Given the description of an element on the screen output the (x, y) to click on. 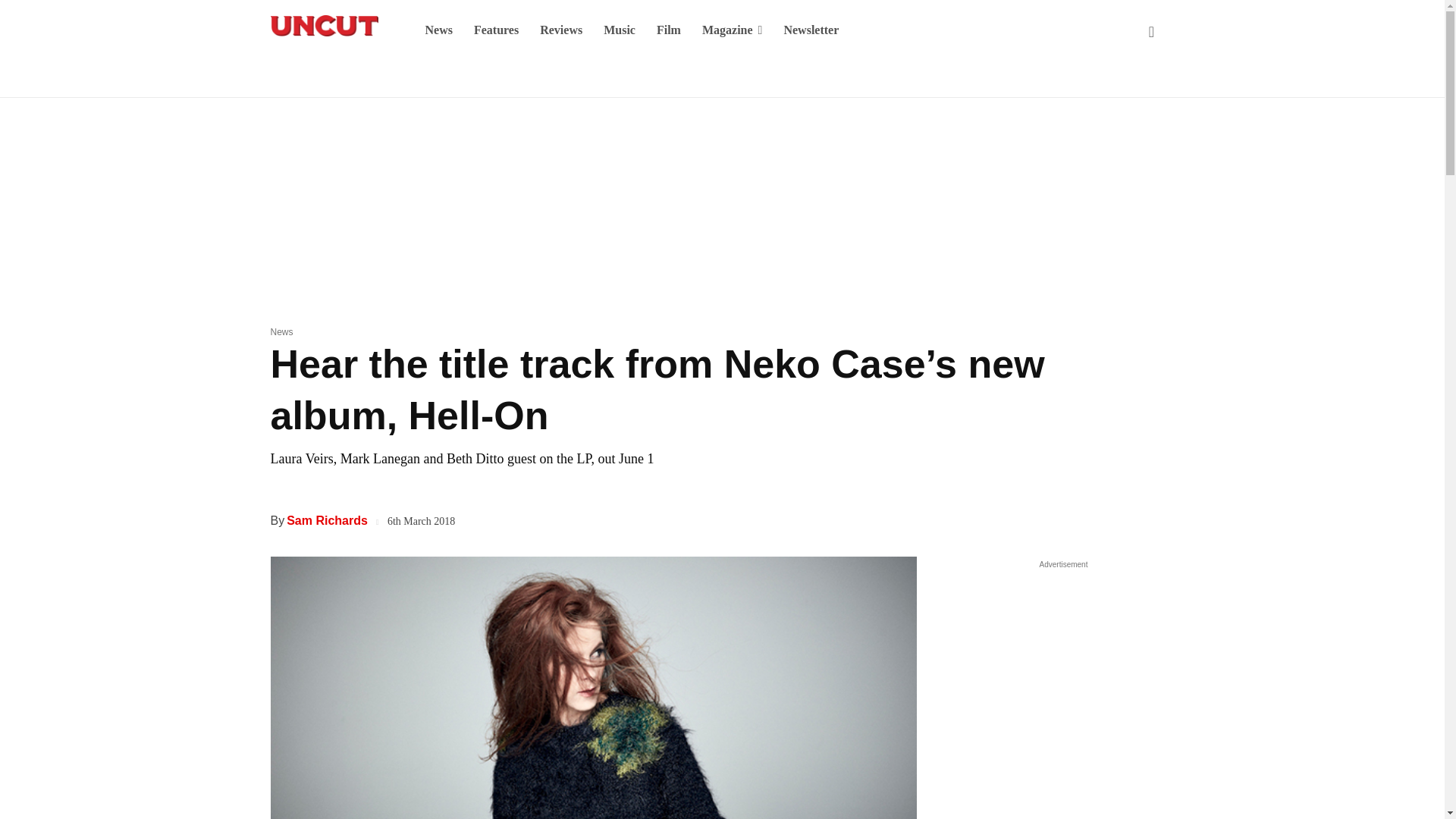
Uncut Logo (323, 25)
Reviews (560, 30)
Features (496, 30)
Newsletter (810, 30)
View all posts in News (280, 331)
Magazine (732, 30)
